Given the description of an element on the screen output the (x, y) to click on. 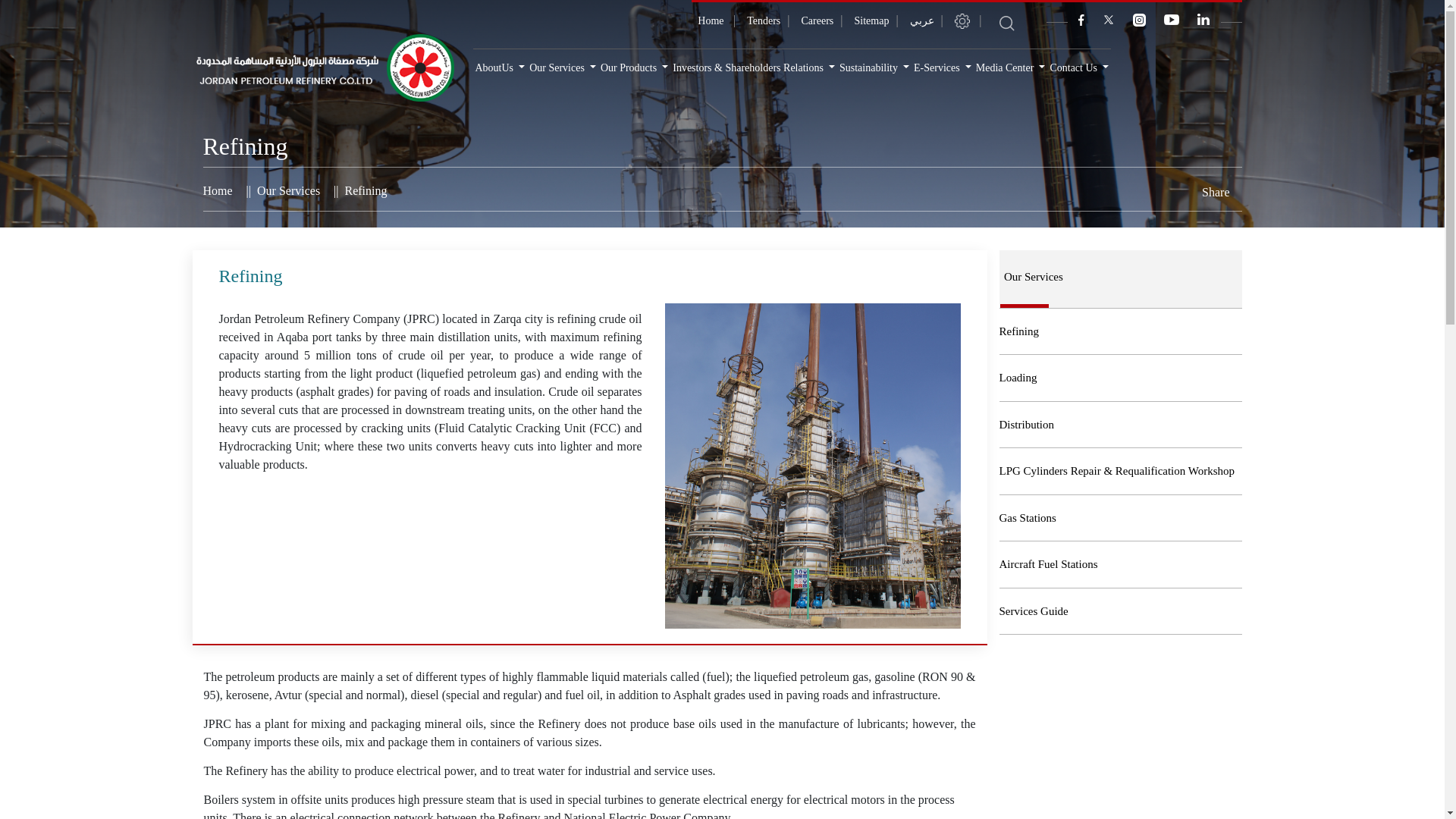
Sitemap (870, 20)
Tenders (763, 20)
Careers (818, 20)
Home (711, 20)
